Given the description of an element on the screen output the (x, y) to click on. 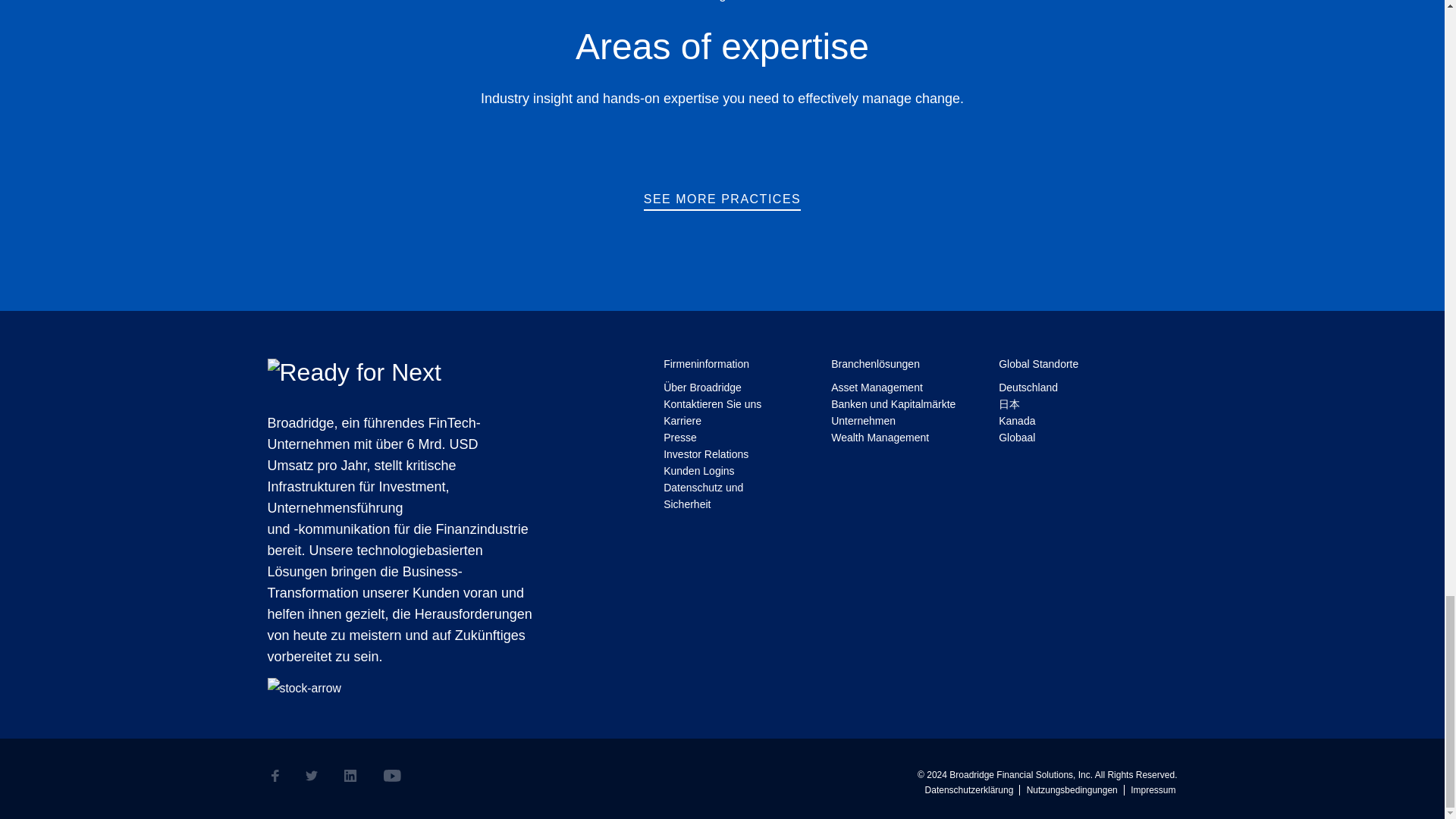
Linkedin Icon (349, 775)
Youtube Icon (392, 775)
Twitter Icon (311, 775)
